Given the description of an element on the screen output the (x, y) to click on. 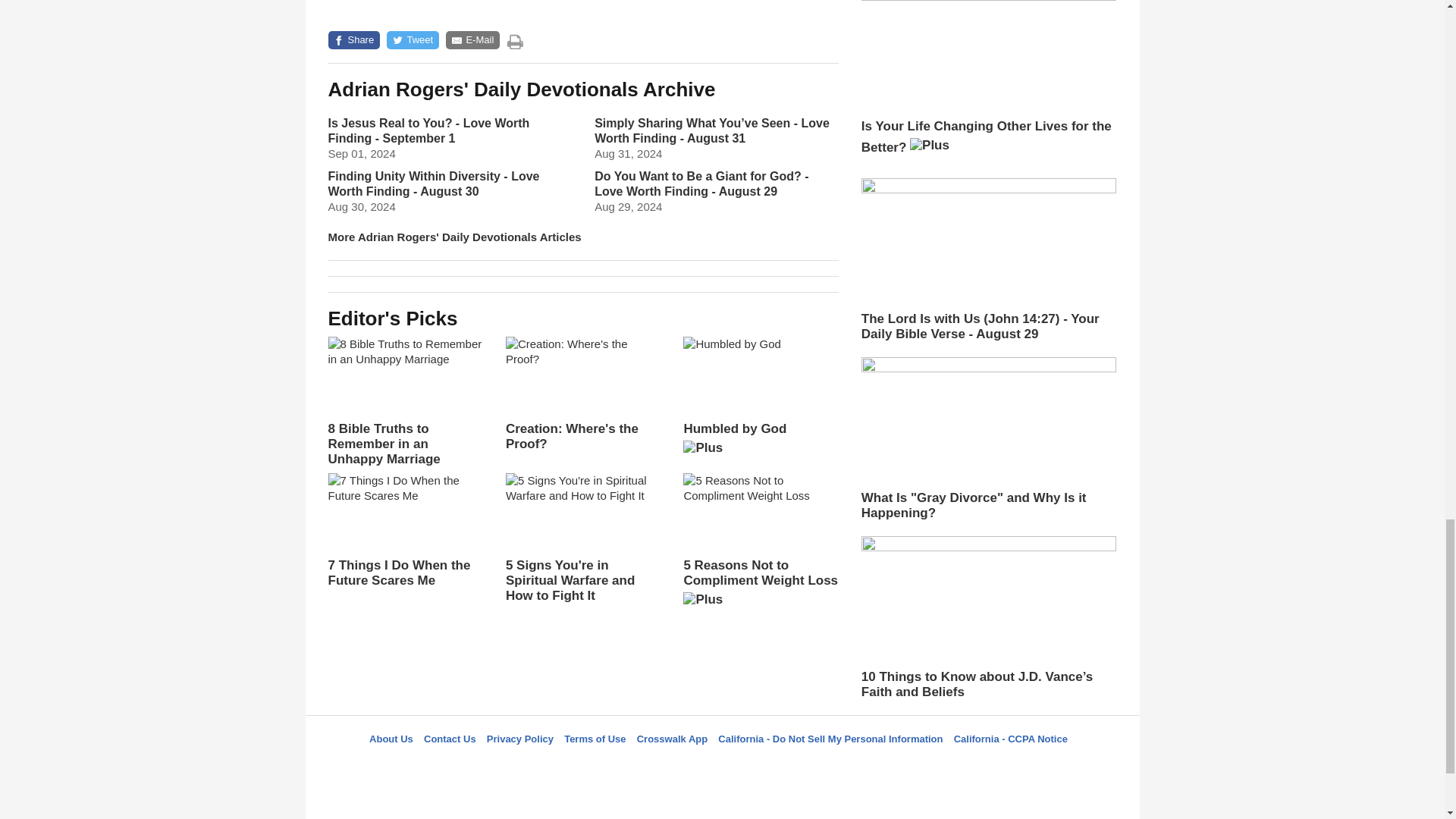
Humbled by God (760, 401)
8 Bible Truths to Remember in an Unhappy Marriage (404, 401)
5 Signs You're in Spiritual Warfare and How to Fight It (583, 538)
Facebook (645, 765)
7 Things I Do When the Future Scares Me (404, 530)
Pinterest (757, 765)
Creation: Where's the Proof? (583, 394)
Twitter (683, 765)
5 Reasons Not to Compliment Weight Loss (760, 545)
LifeAudio (719, 765)
